Given the description of an element on the screen output the (x, y) to click on. 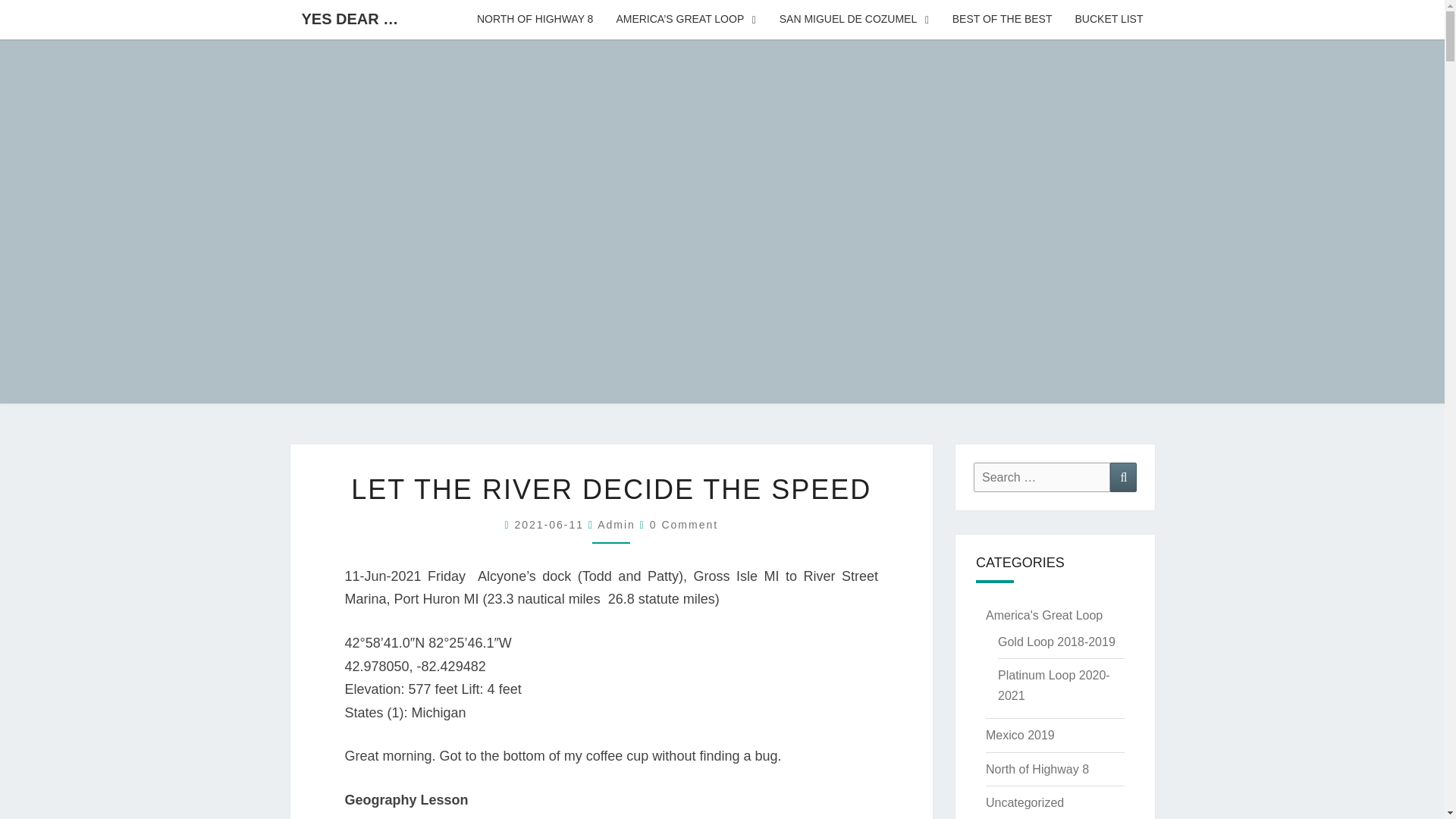
Search for: (1041, 477)
BEST OF THE BEST (1002, 19)
10:39 pm (550, 524)
BUCKET LIST (1108, 19)
0 Comment (683, 524)
View all posts by admin (615, 524)
2021-06-11 (550, 524)
Admin (615, 524)
SAN MIGUEL DE COZUMEL (854, 19)
NORTH OF HIGHWAY 8 (535, 19)
